Given the description of an element on the screen output the (x, y) to click on. 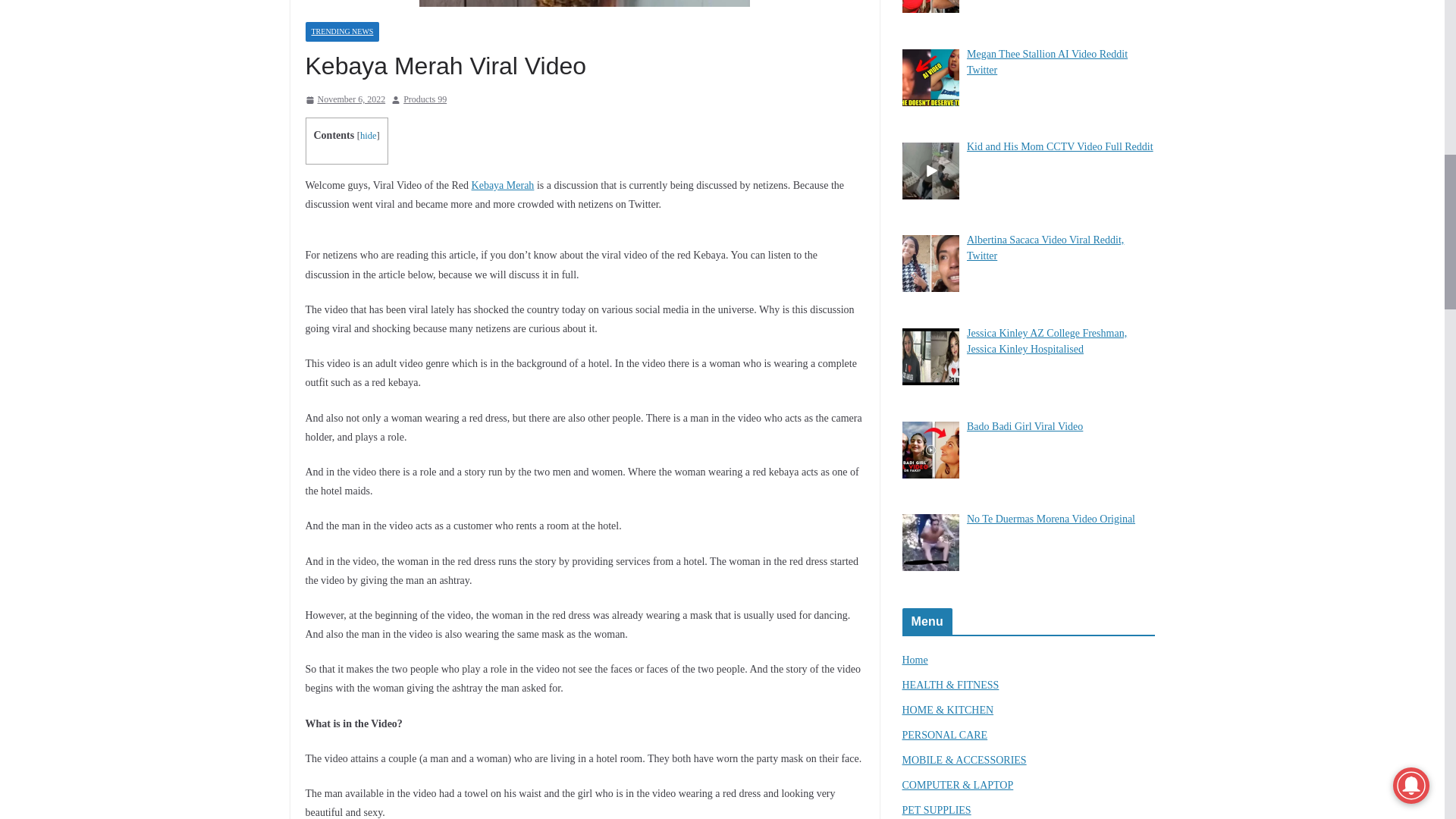
Megan Thee Stallion AI Video Reddit Twitter (1046, 62)
Kid and His Mom CCTV Video Full Reddit (1059, 146)
Products 99 (424, 99)
TRENDING NEWS (341, 31)
Kebaya Merah (502, 184)
Products 99 (424, 99)
9:42 pm (344, 99)
November 6, 2022 (344, 99)
hide (368, 135)
